Given the description of an element on the screen output the (x, y) to click on. 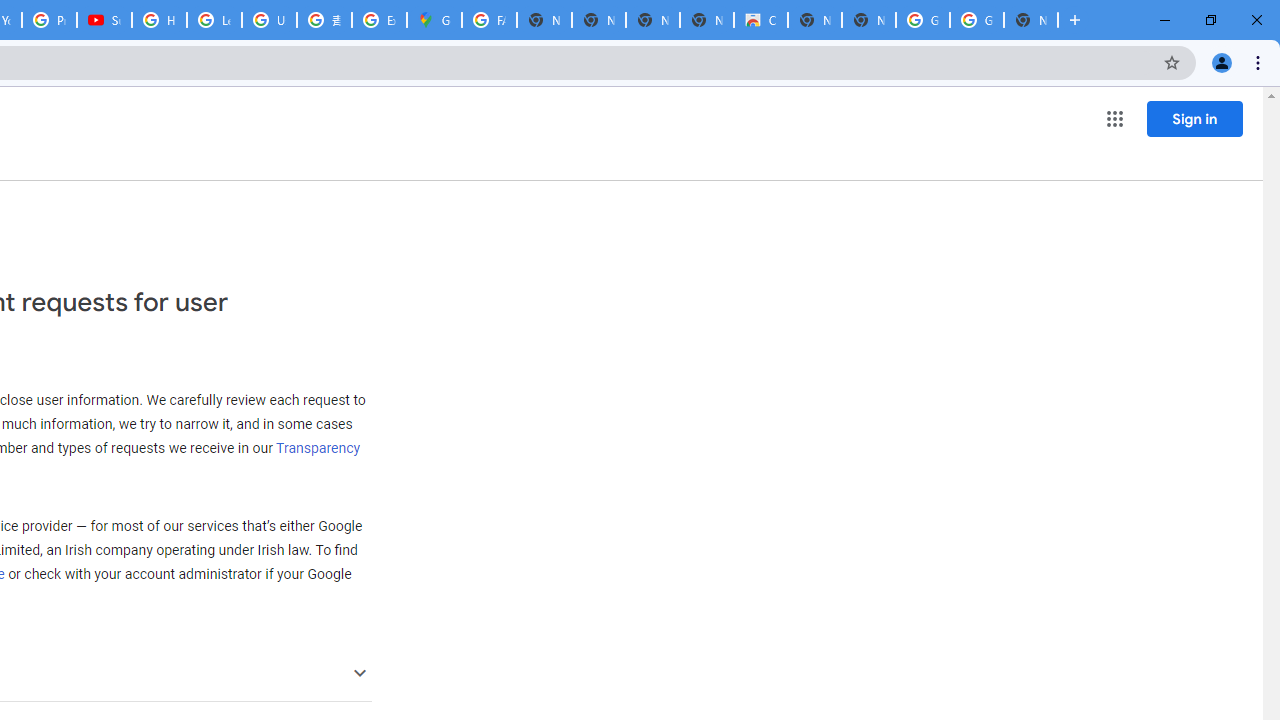
New Tab (1030, 20)
Google Maps (434, 20)
Chrome Web Store (760, 20)
Google Images (922, 20)
